Given the description of an element on the screen output the (x, y) to click on. 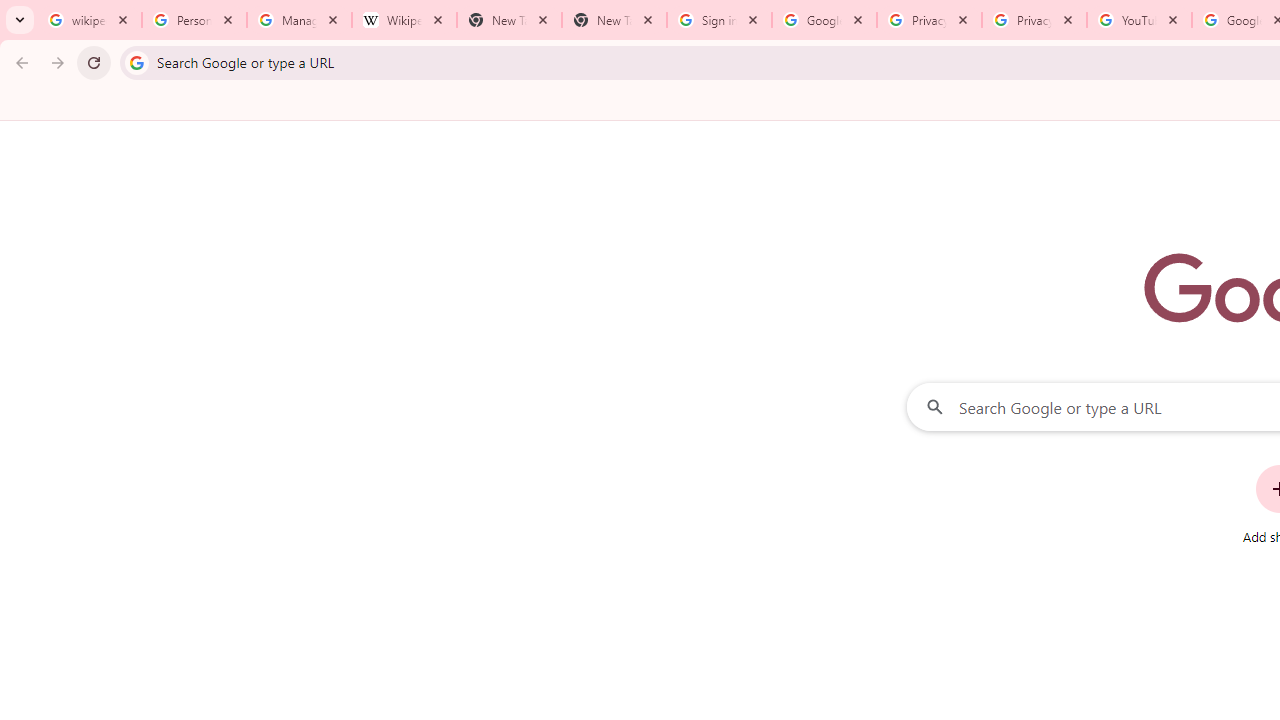
Manage your Location History - Google Search Help (299, 20)
